Given the description of an element on the screen output the (x, y) to click on. 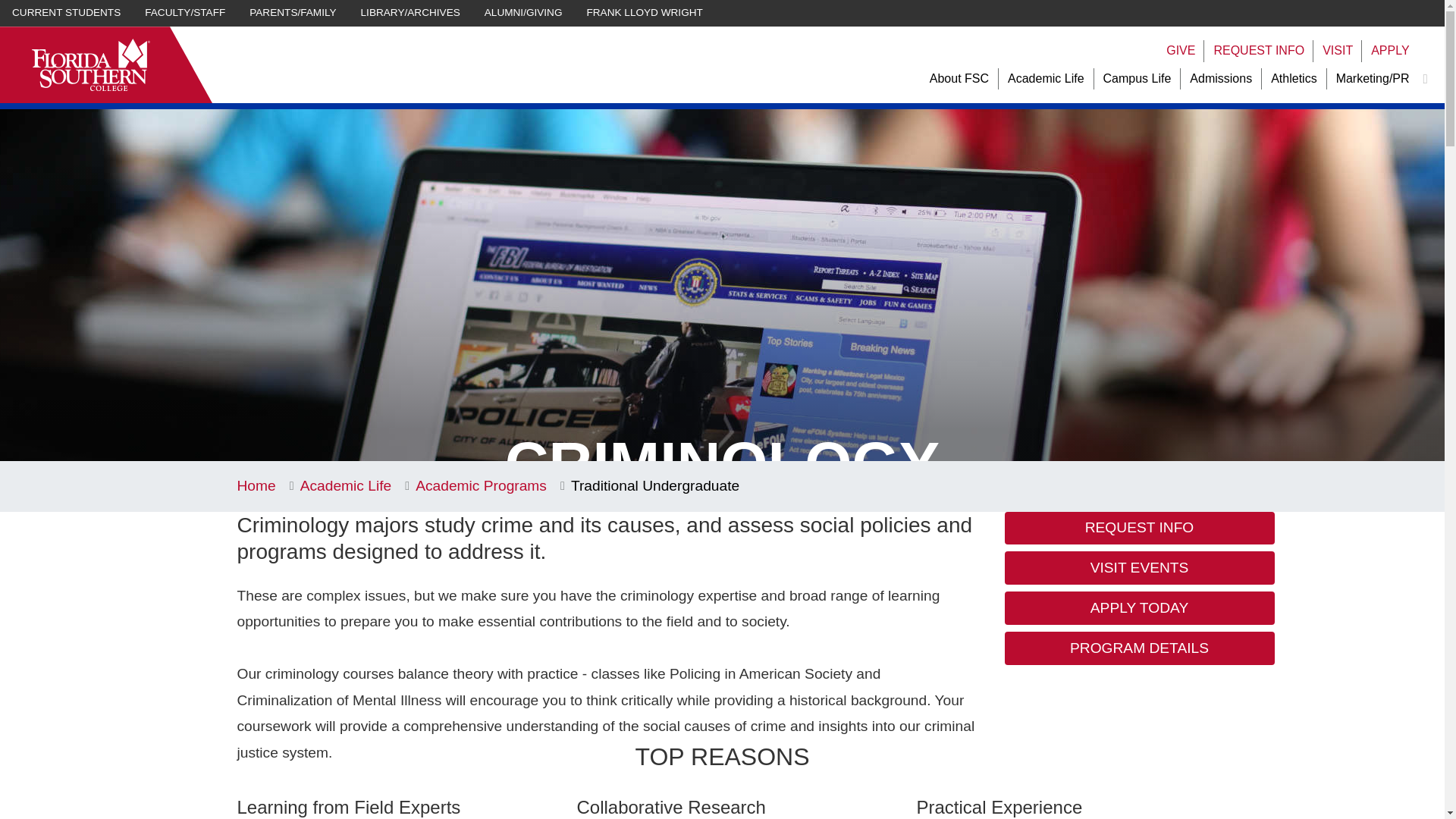
GIVE (1180, 51)
FRANK LLOYD WRIGHT (644, 13)
Academic Life (1045, 78)
REQUEST INFO (1258, 51)
VISIT (1337, 51)
Admissions (1220, 78)
CURRENT STUDENTS (65, 13)
About FSC (959, 78)
Campus Life (1137, 78)
Athletics (1293, 78)
